Given the description of an element on the screen output the (x, y) to click on. 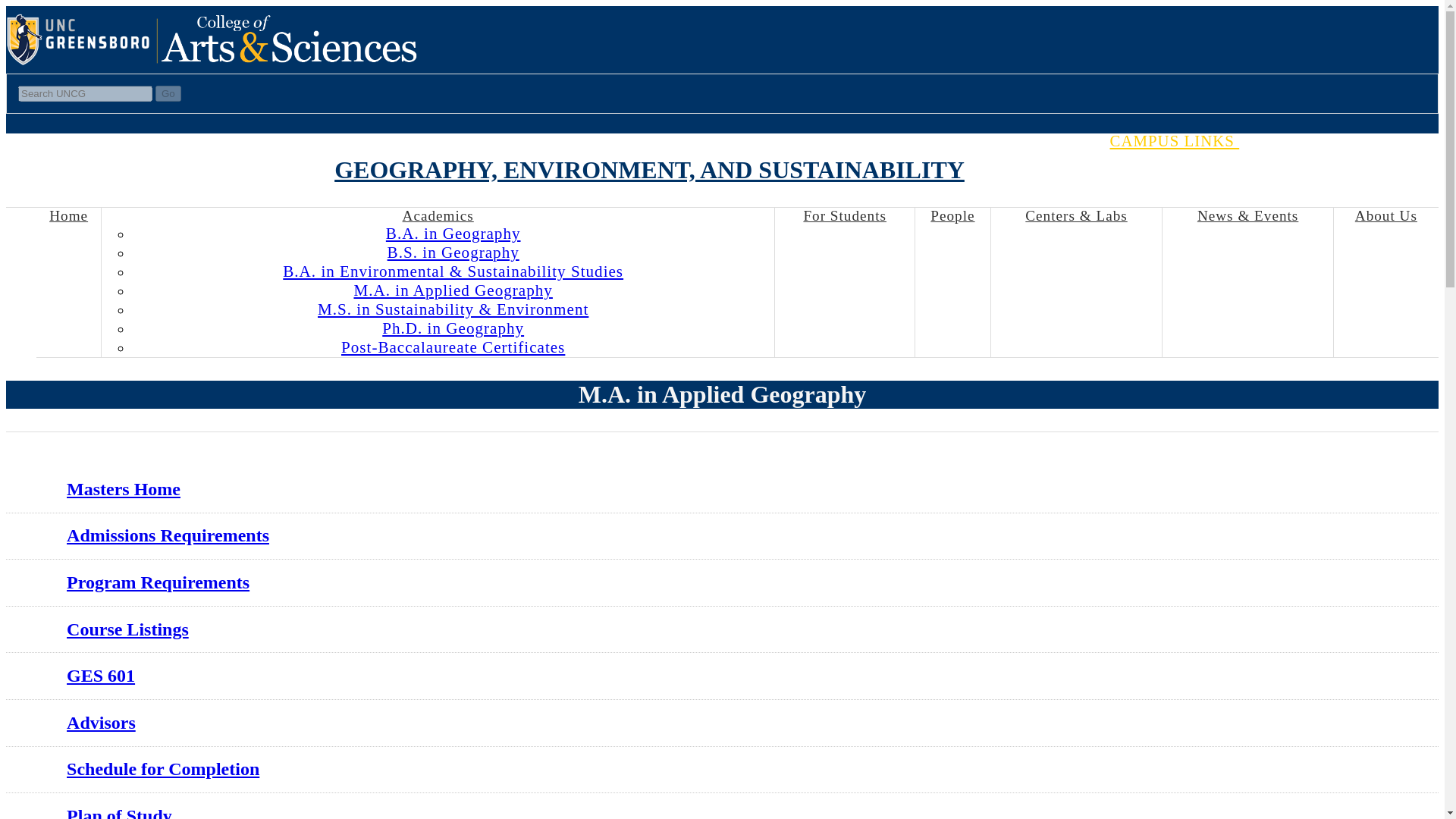
College of Arts and Sciences (288, 62)
CAMPUS LINKS (1194, 140)
Academics (438, 215)
B.A. in Geography (453, 233)
UNCG Directory (1401, 159)
The University of North Carolina at Greensboro (81, 62)
About Us (1385, 215)
People (952, 215)
B.S. in Geography (453, 252)
GEOGRAPHY, ENVIRONMENT, AND SUSTAINABILITY (648, 169)
UNCGenie (1375, 159)
Post-Baccalaureate Certificates (452, 347)
Canvas (1426, 159)
Submit Search (167, 93)
Home (68, 215)
